Given the description of an element on the screen output the (x, y) to click on. 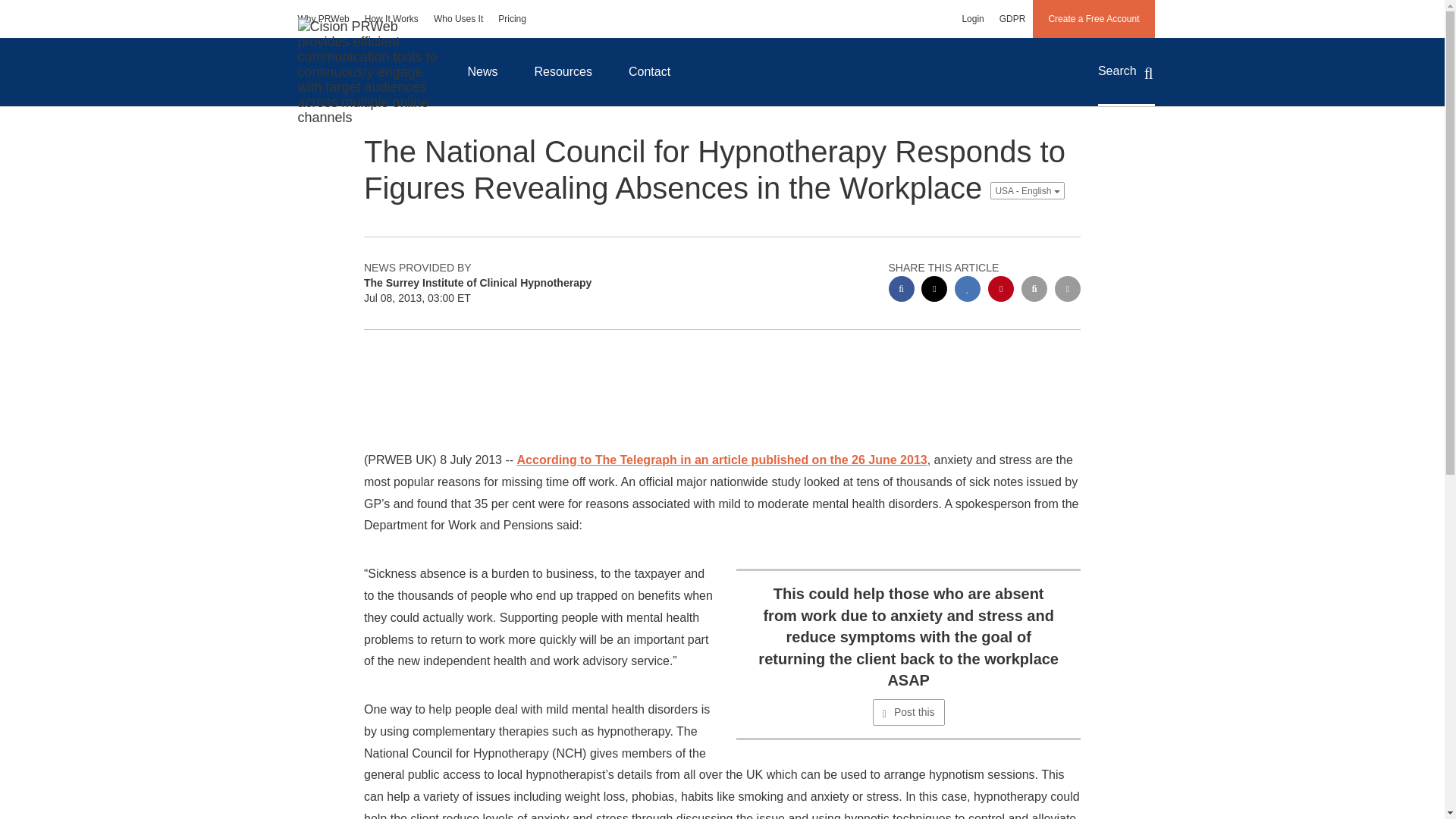
Create a Free Account (1093, 18)
Resources (563, 71)
Pricing (512, 18)
Why PRWeb (322, 18)
How It Works (391, 18)
News (481, 71)
GDPR (1012, 18)
Login (972, 18)
Who Uses It (458, 18)
Contact (649, 71)
